Given the description of an element on the screen output the (x, y) to click on. 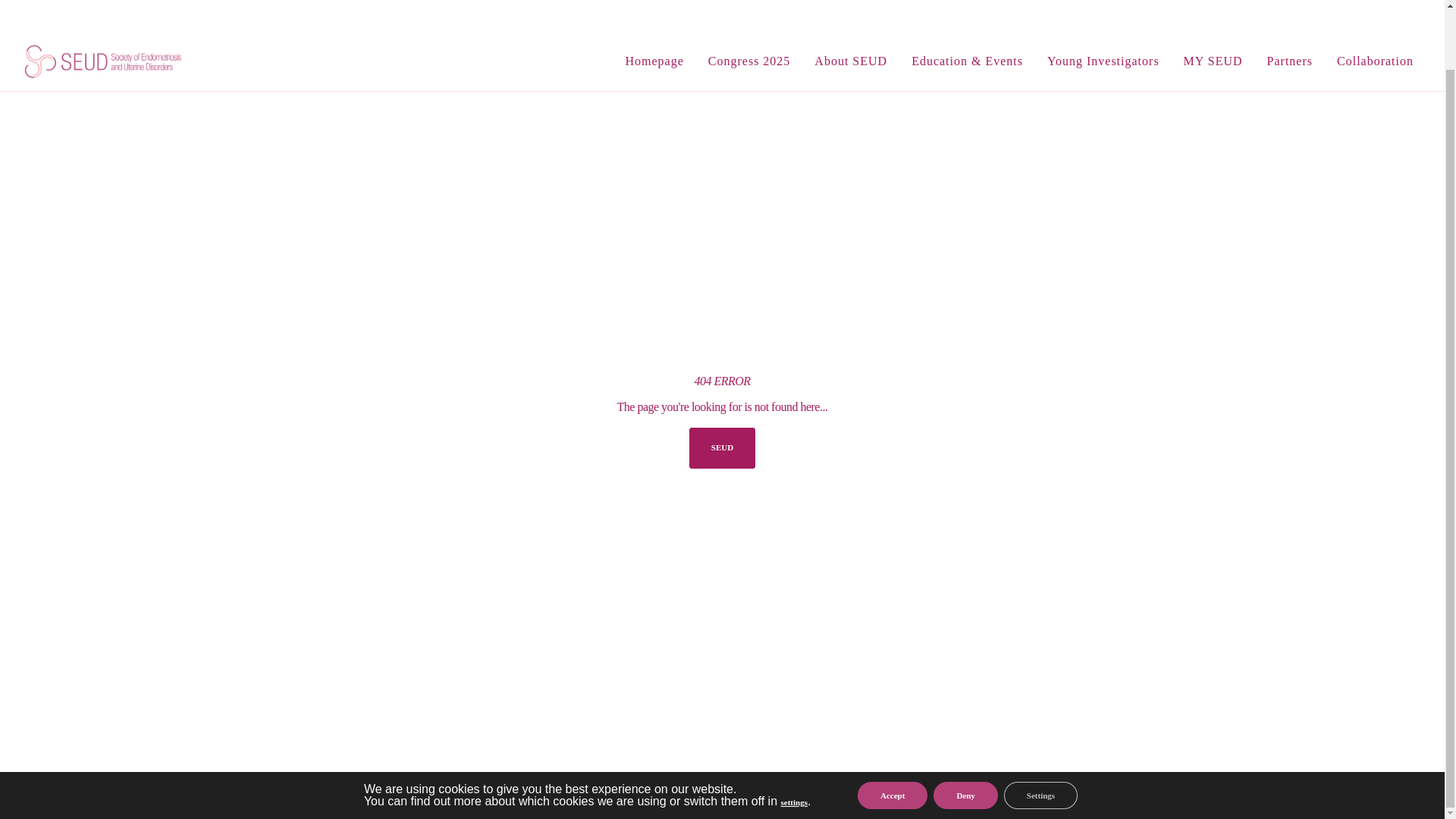
MY SEUD (1213, 13)
Congress 2025 (749, 13)
Young Investigators (1103, 13)
About SEUD (850, 13)
Homepage (653, 13)
Partners (1289, 13)
